Given the description of an element on the screen output the (x, y) to click on. 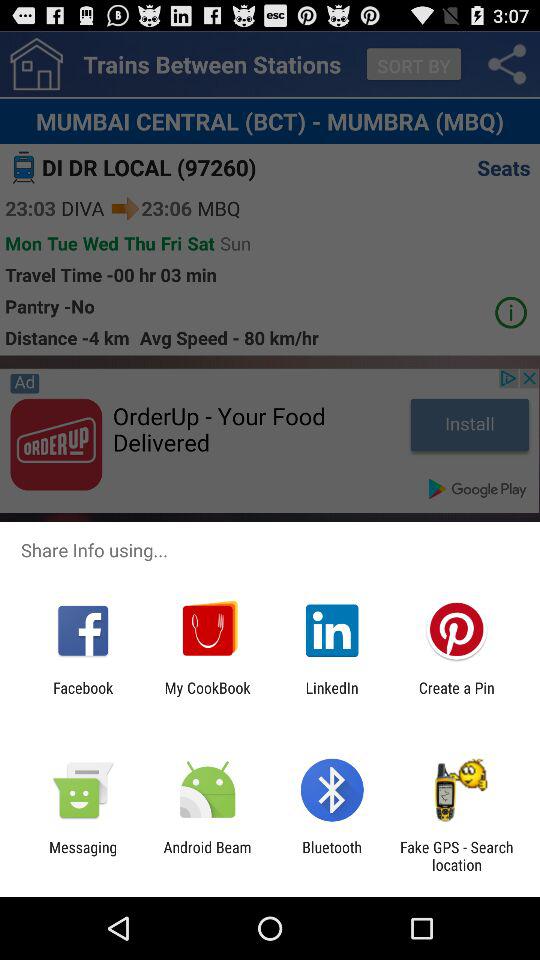
tap the app next to android beam app (331, 856)
